Given the description of an element on the screen output the (x, y) to click on. 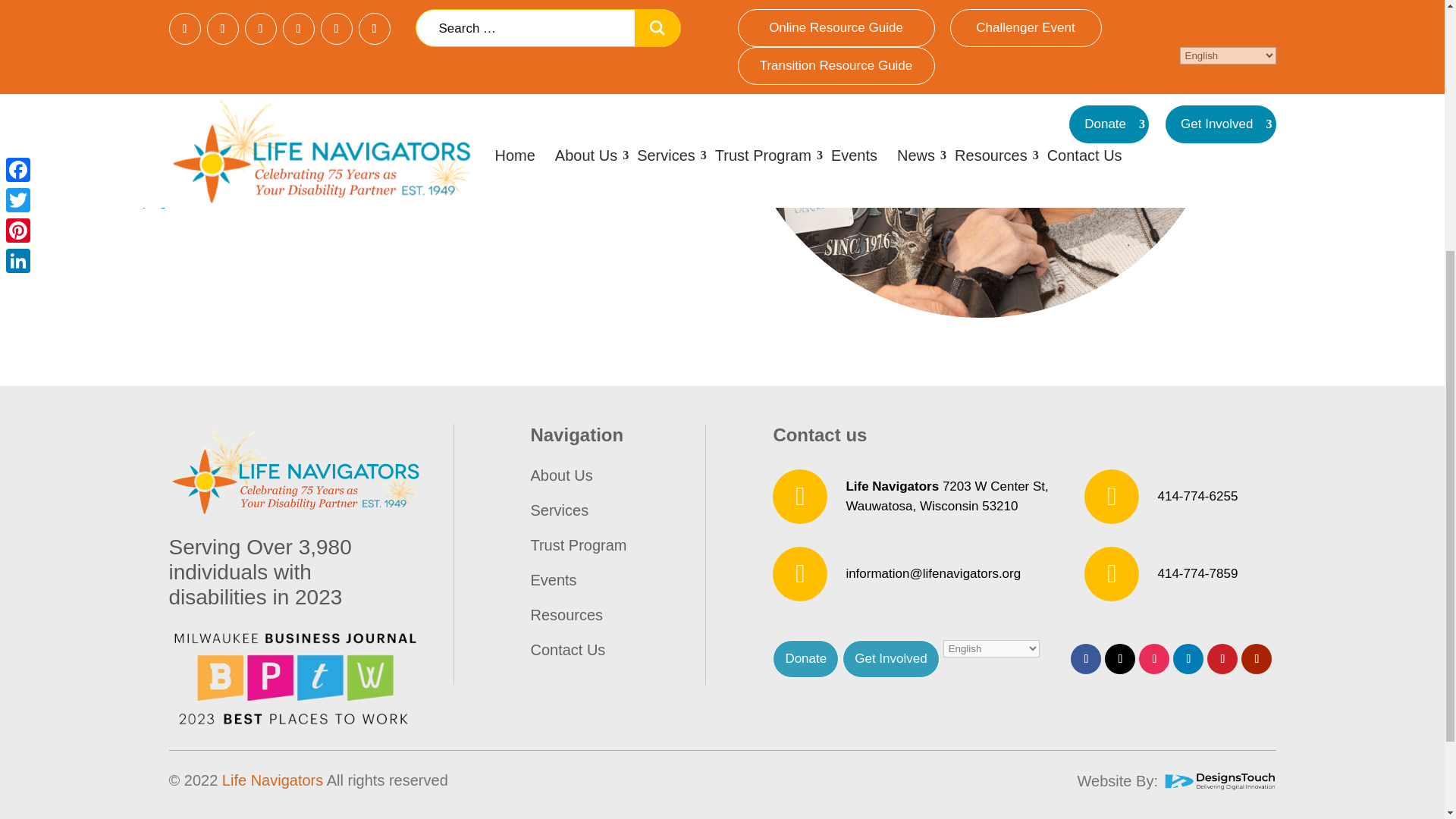
Delivering Digital Innovations (1218, 780)
Follow on Pinterest (1222, 658)
Follow on Instagram (1153, 658)
Follow on X (1120, 658)
Follow on LinkedIn (1188, 658)
Follow on Facebook (1085, 658)
BP2W2023 No Background (294, 678)
Follow on Youtube (1256, 658)
